Given the description of an element on the screen output the (x, y) to click on. 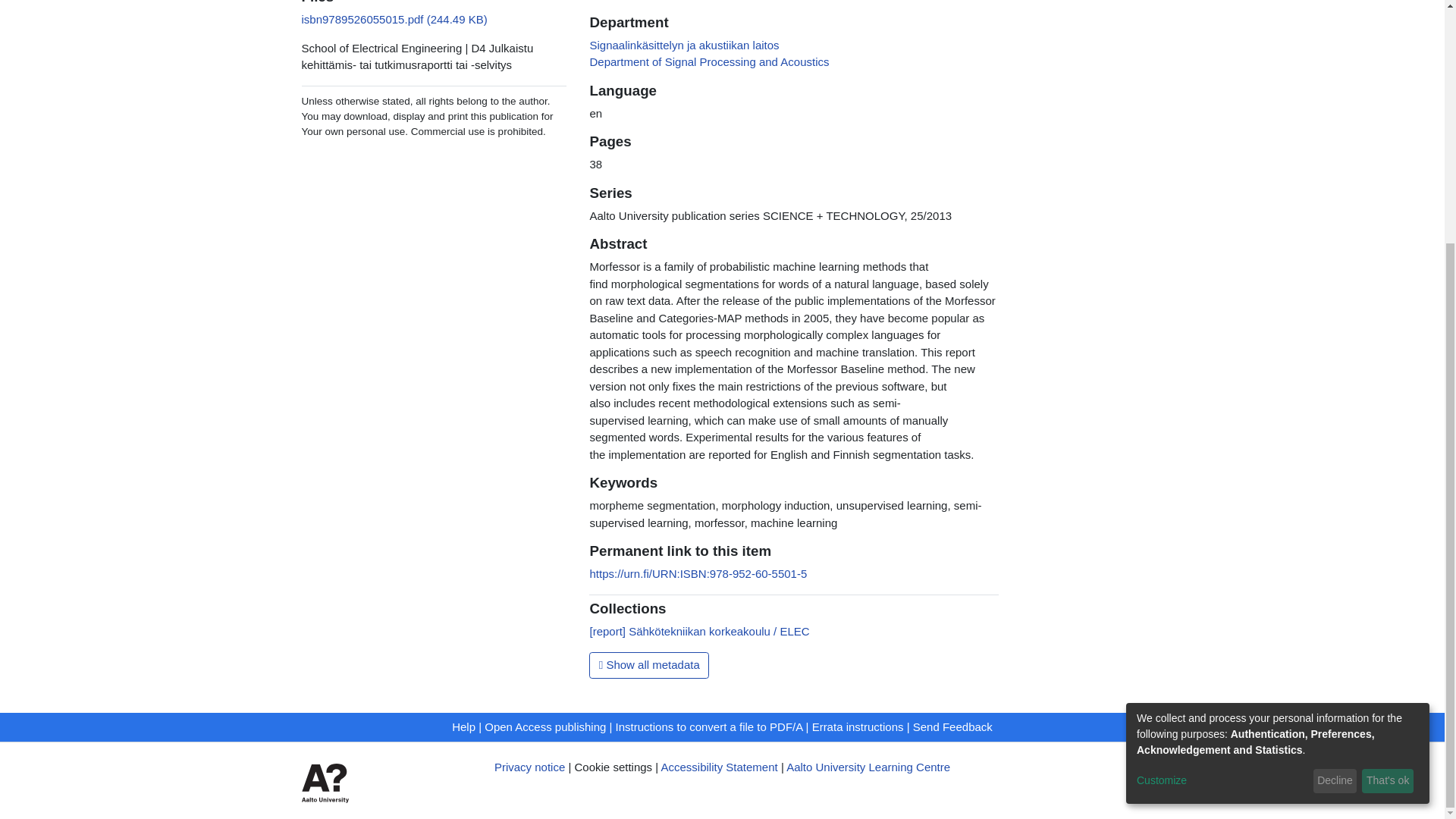
Department of Signal Processing and Acoustics (708, 61)
Accessibility Statement (719, 766)
That's ok (1387, 444)
Customize (1222, 443)
Help (463, 726)
Open Access publishing (544, 726)
Aalto University Learning Centre (868, 766)
Show all metadata (649, 665)
Cookie settings (613, 766)
Send Feedback (952, 726)
Privacy notice (529, 766)
Decline (1334, 444)
Errata instructions (858, 726)
